Given the description of an element on the screen output the (x, y) to click on. 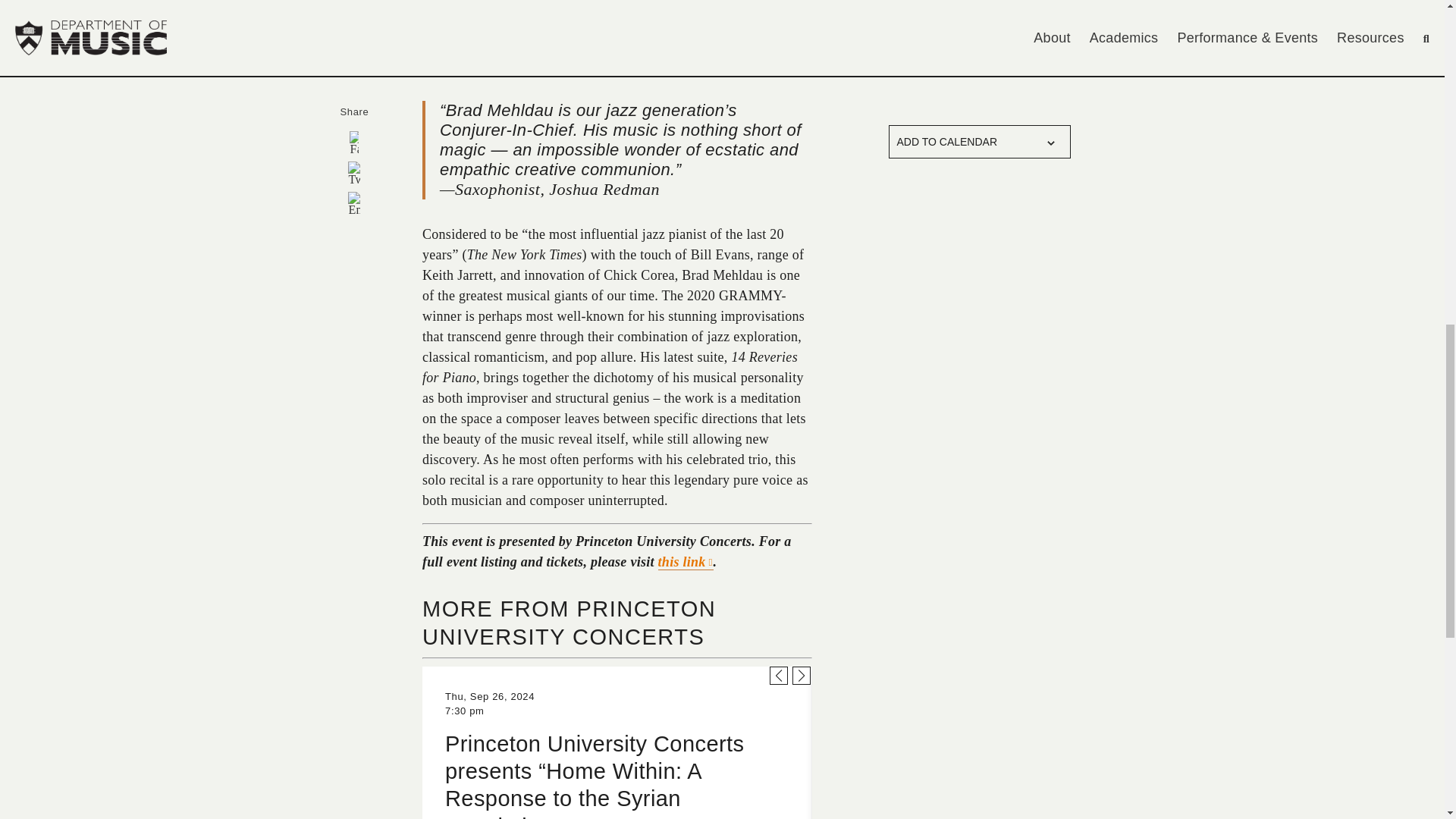
Email (353, 203)
Twitter (353, 173)
Facebook (353, 142)
